Given the description of an element on the screen output the (x, y) to click on. 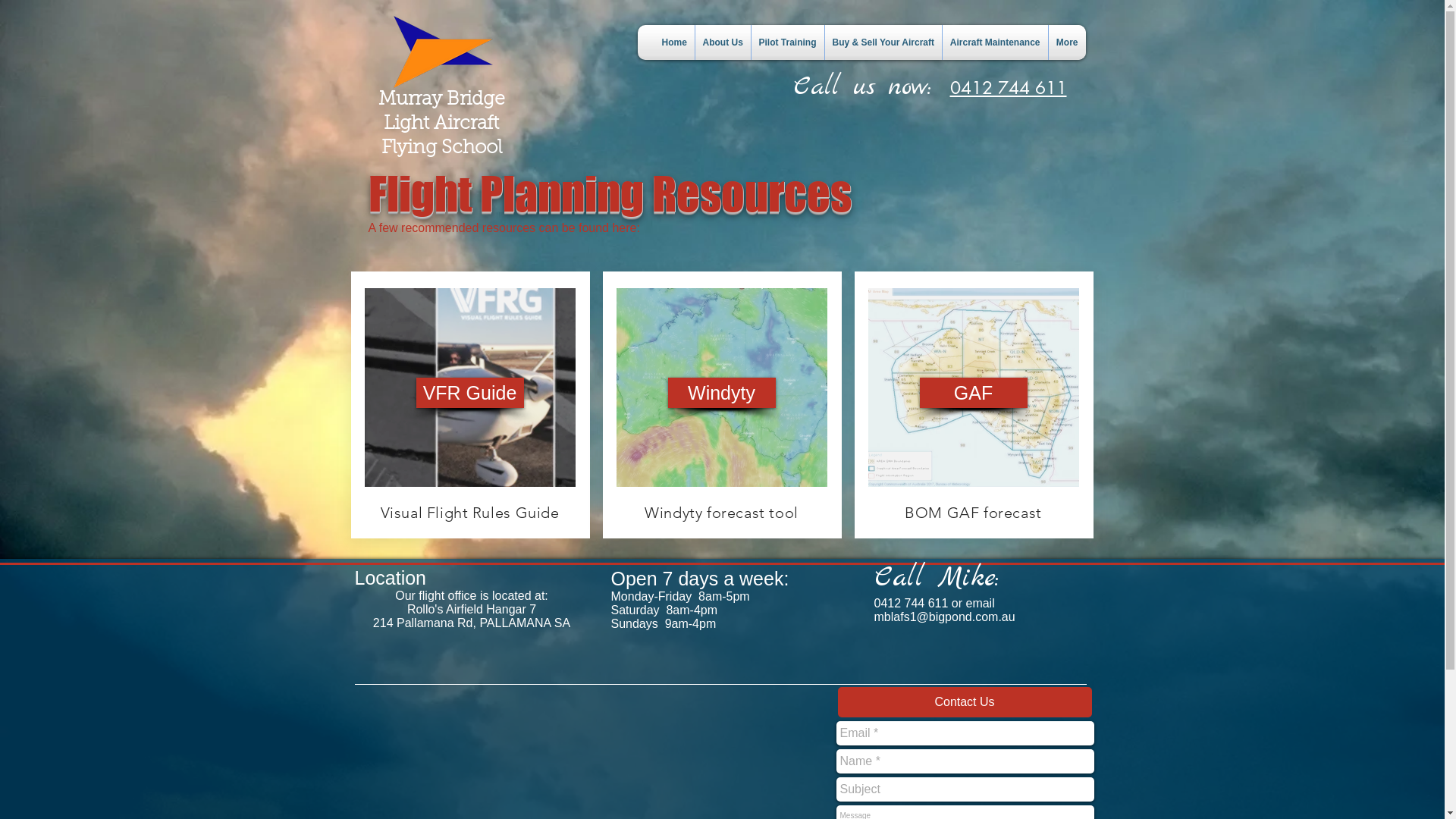
Pilot Training Element type: text (786, 42)
Buy & Sell Your Aircraft Element type: text (883, 42)
0412 744 611 Element type: text (1007, 87)
GAF Element type: text (972, 392)
VFR Guide Element type: text (469, 392)
mblafs1@bigpond.com.au Element type: text (943, 616)
Home Element type: text (673, 42)
Aircraft Maintenance Element type: text (994, 42)
Windyty Element type: text (721, 392)
About Us Element type: text (721, 42)
